Given the description of an element on the screen output the (x, y) to click on. 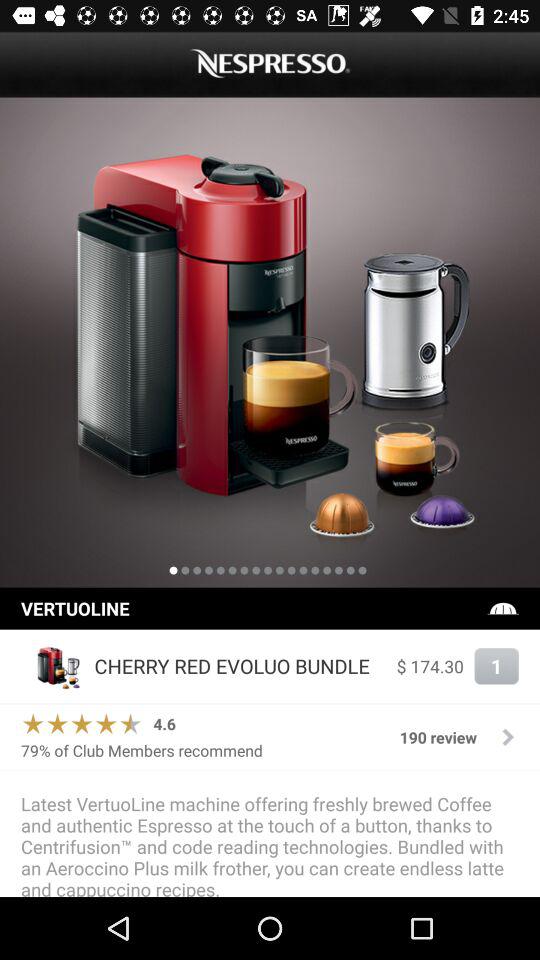
press item next to cherry red evoluo item (429, 666)
